Given the description of an element on the screen output the (x, y) to click on. 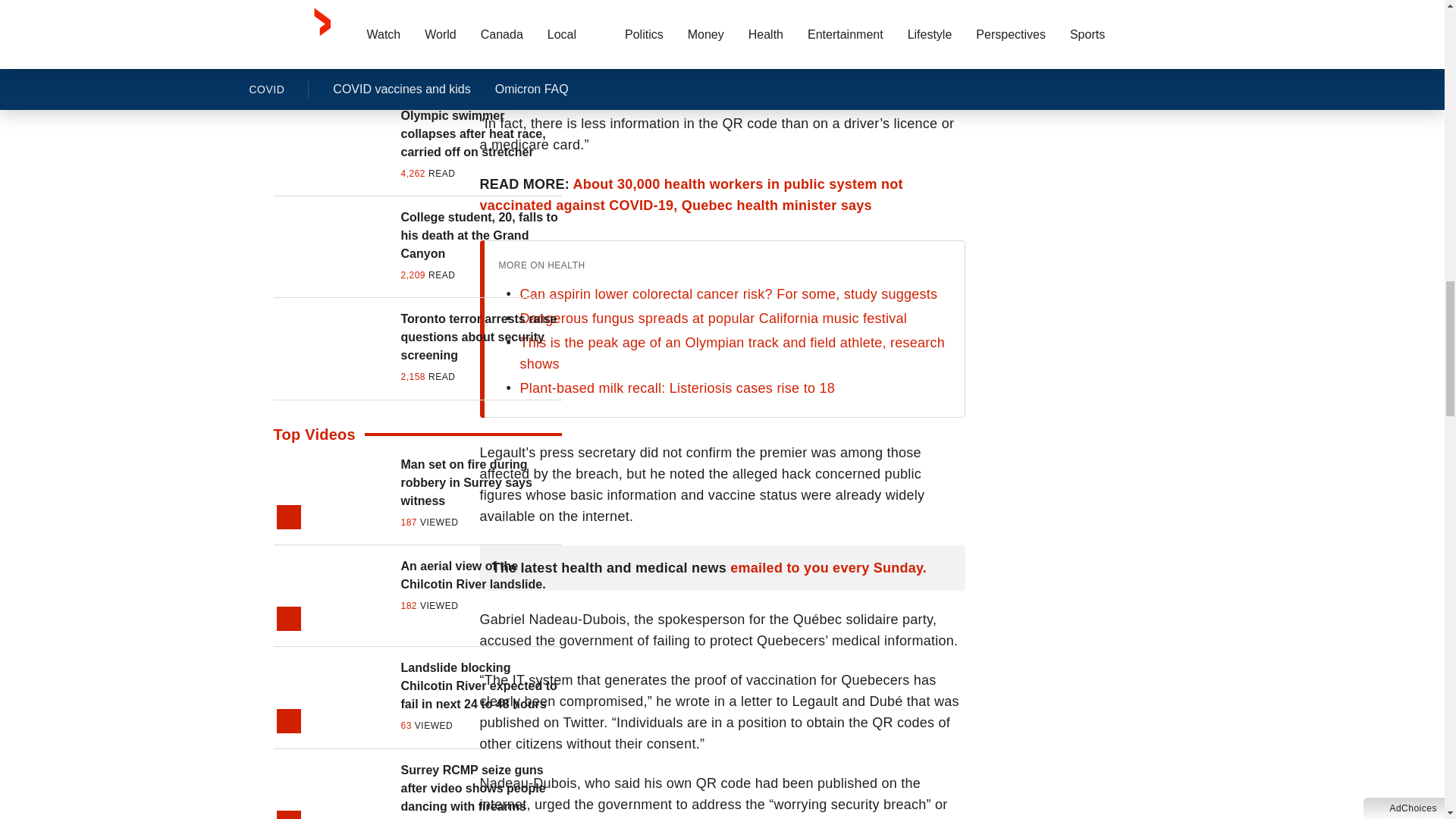
An aerial view of the Chilcotin River landslide. (480, 575)
Man set on fire during robbery in Surrey says witness (480, 482)
College student, 20, falls to his death at the Grand Canyon (480, 235)
